Given the description of an element on the screen output the (x, y) to click on. 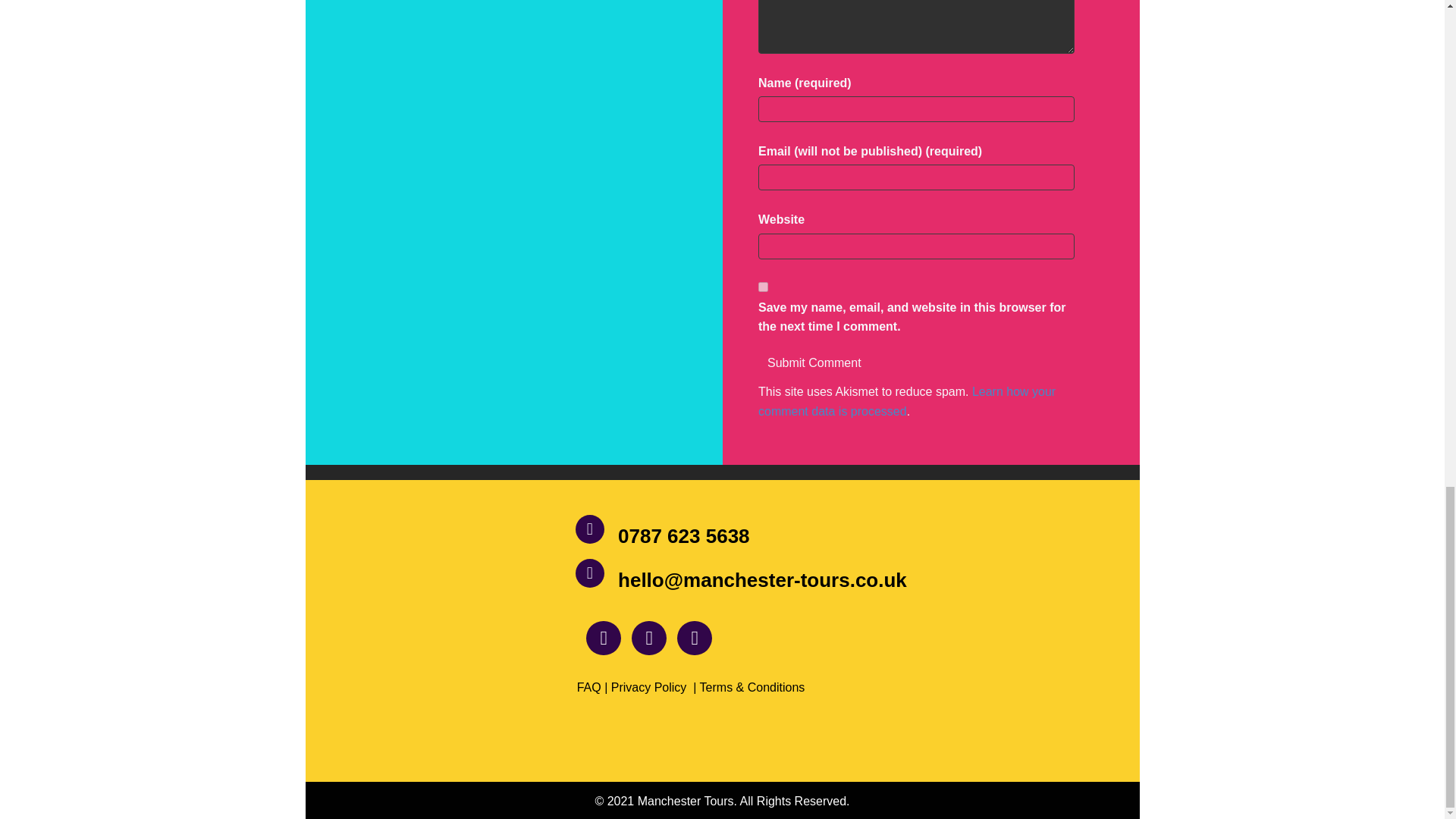
yes (763, 286)
Learn how your comment data is processed (906, 400)
Submit Comment (814, 361)
Submit Comment (814, 361)
